Given the description of an element on the screen output the (x, y) to click on. 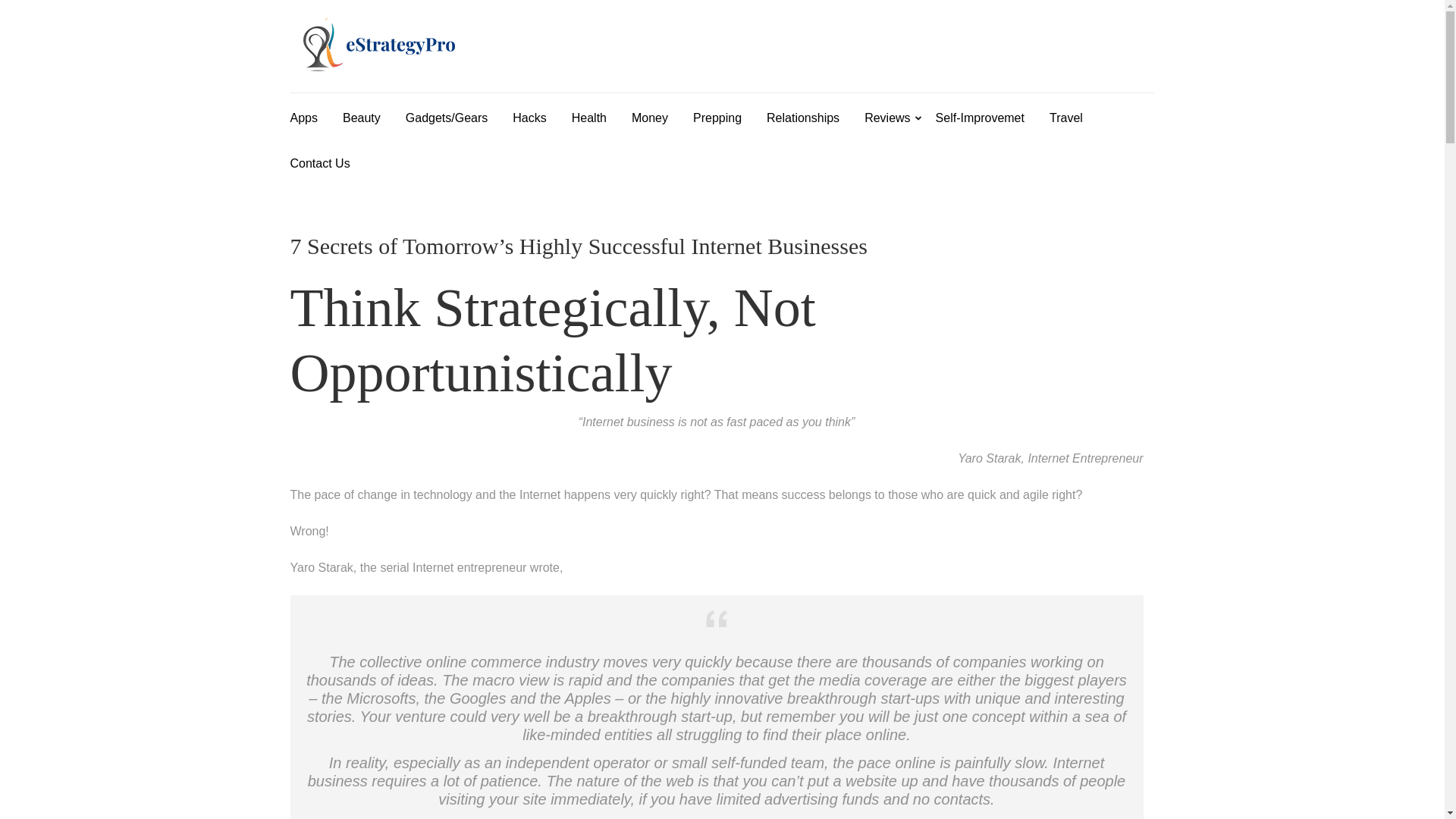
Reviews (887, 115)
Relationships (803, 115)
ESTRATEGYPRO (590, 61)
Prepping (717, 115)
Contact Us (319, 161)
Self-Improvemet (980, 115)
